Given the description of an element on the screen output the (x, y) to click on. 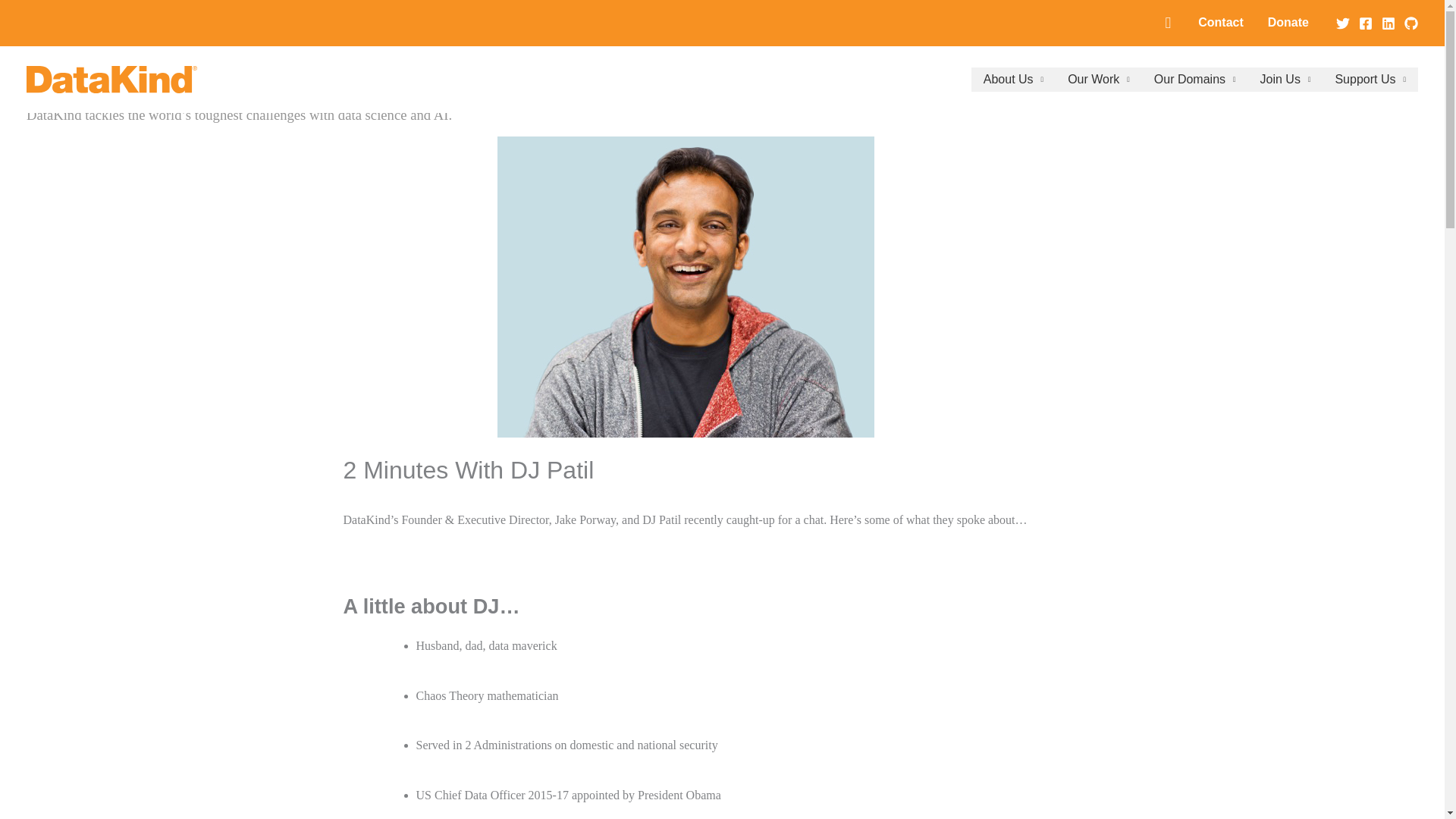
Support Us (1370, 79)
Our Work (1098, 79)
Join Us (1285, 79)
Our Domains (1194, 79)
Contact (1220, 22)
Donate (1287, 22)
About Us (1013, 79)
